Given the description of an element on the screen output the (x, y) to click on. 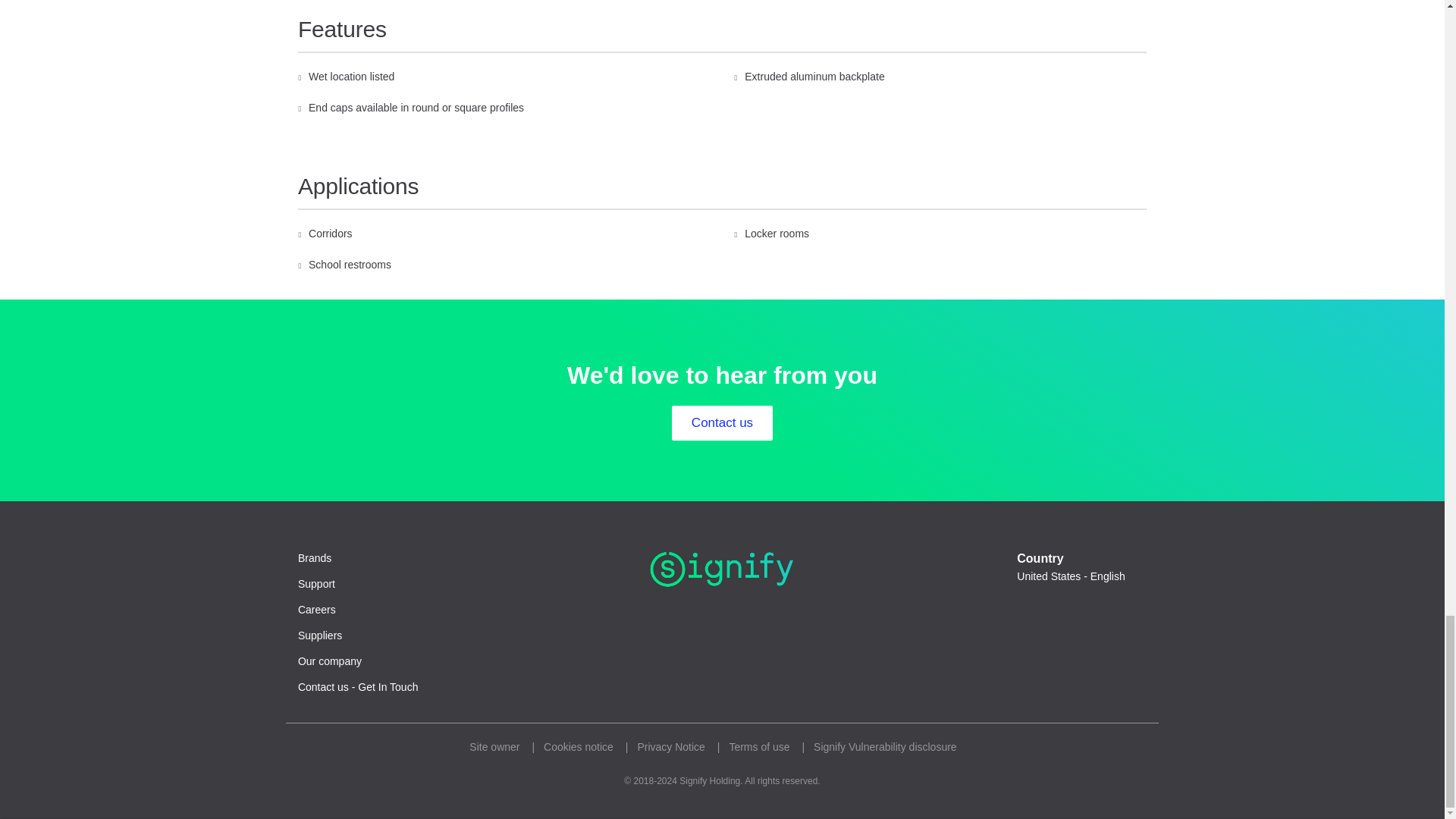
Contact us (722, 422)
Our company (329, 661)
Suppliers (320, 635)
Site owner (493, 747)
Signify logo (721, 568)
Signify Vulnerability disclosure (884, 747)
Contact us - Get In Touch (358, 687)
Privacy Notice (670, 747)
Cookies notice (577, 747)
Support (316, 584)
